Given the description of an element on the screen output the (x, y) to click on. 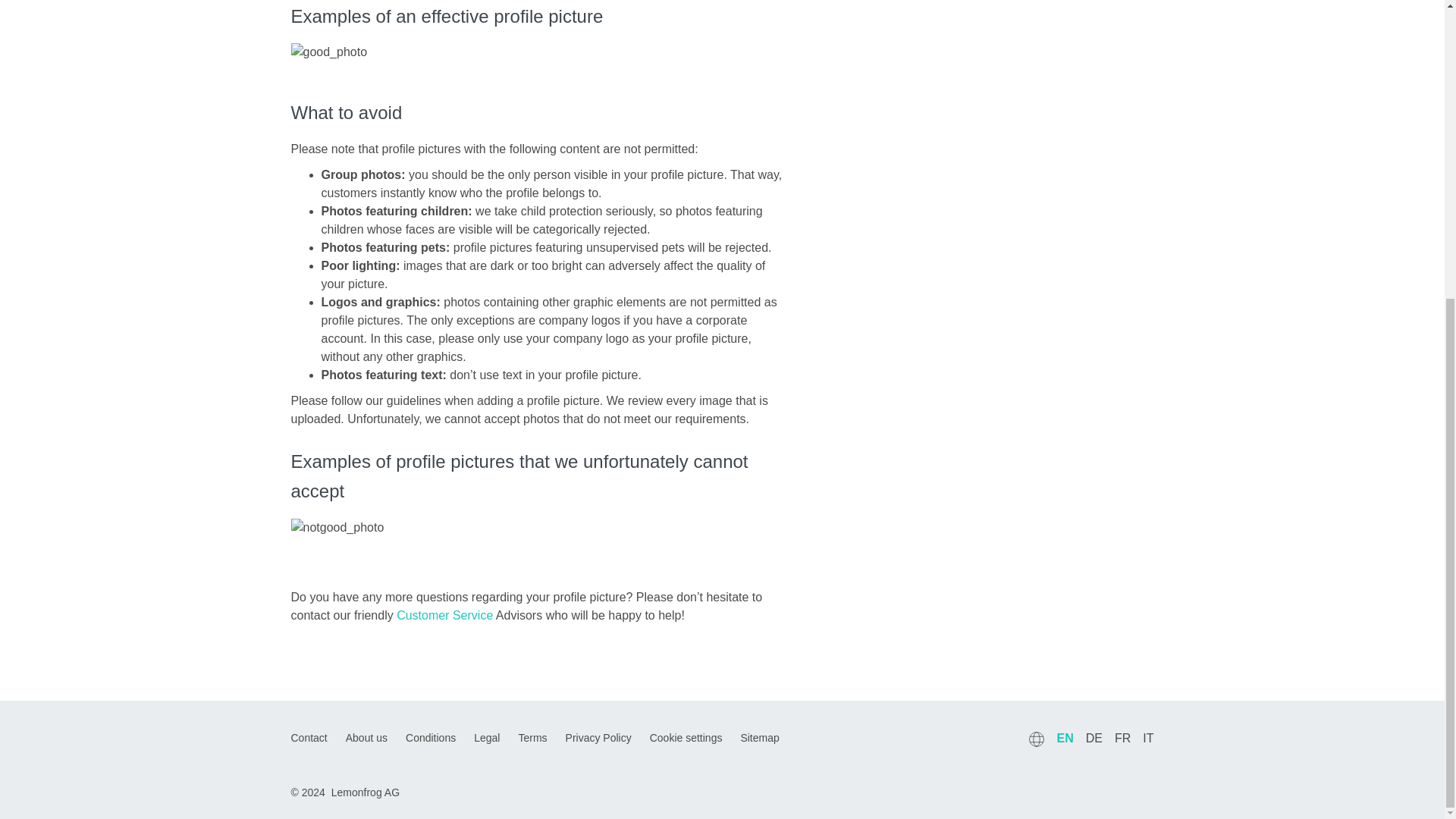
About us (366, 737)
Conditions (430, 737)
Terms (532, 737)
EN (1065, 738)
Contact (309, 737)
Sitemap (758, 737)
Privacy Policy (598, 737)
Lemonfrog AG (364, 792)
IT (1147, 738)
FR (1123, 738)
DE (1094, 738)
Cookie settings (685, 737)
Legal (486, 737)
Customer Service (444, 615)
